Given the description of an element on the screen output the (x, y) to click on. 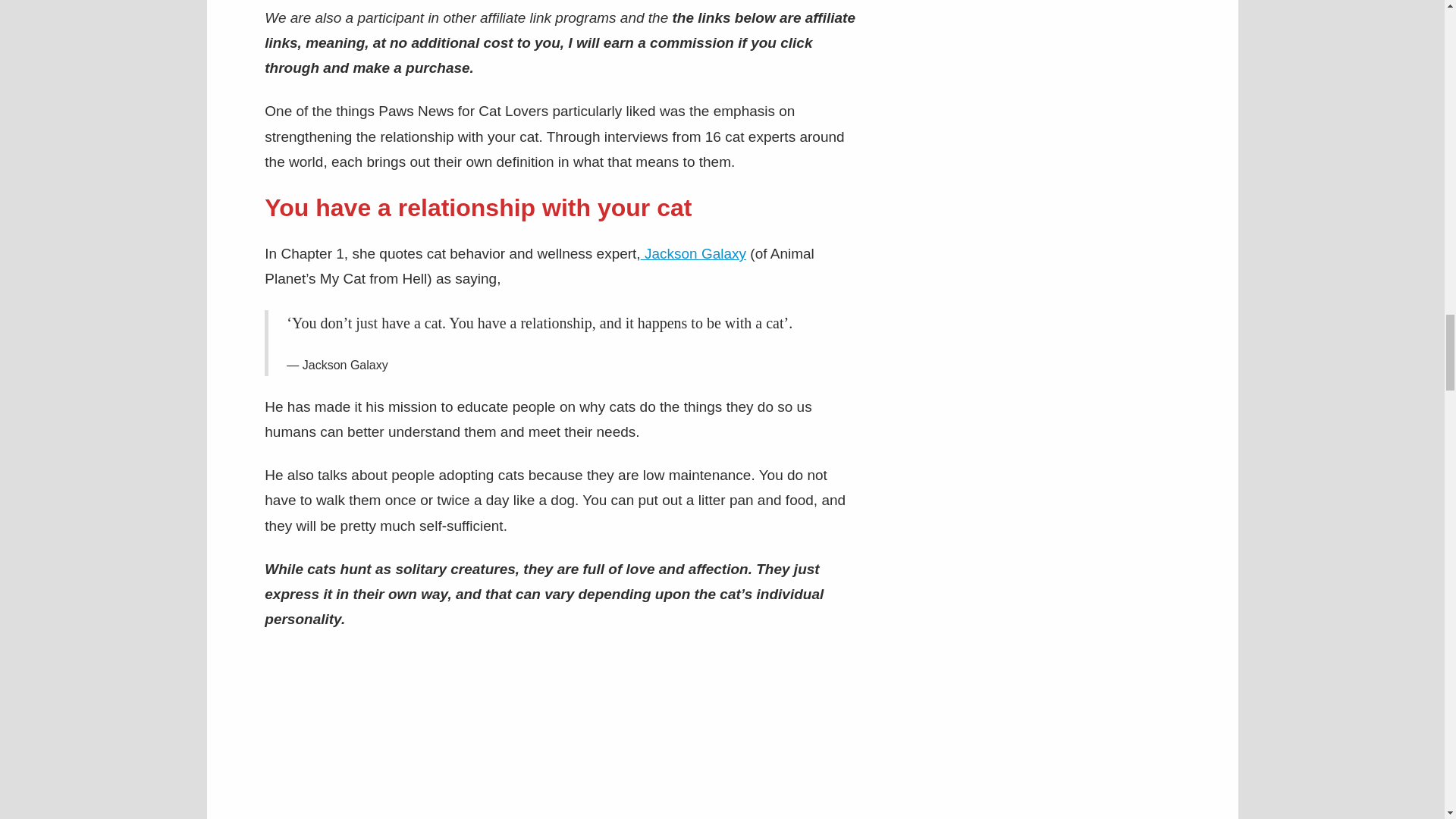
Jackson Galaxy (692, 253)
